Given the description of an element on the screen output the (x, y) to click on. 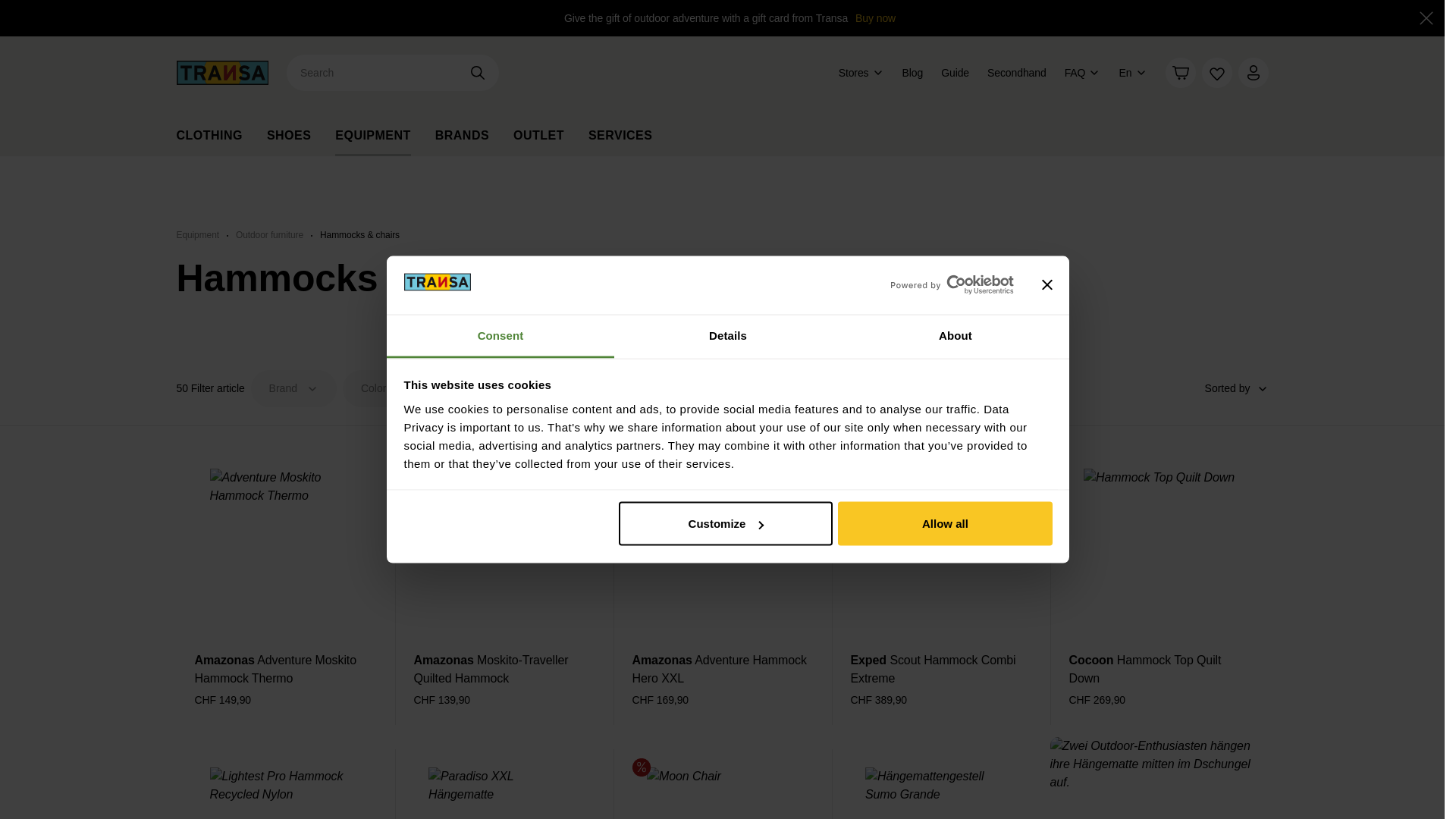
About (954, 335)
Consent (500, 335)
Details (727, 335)
